Given the description of an element on the screen output the (x, y) to click on. 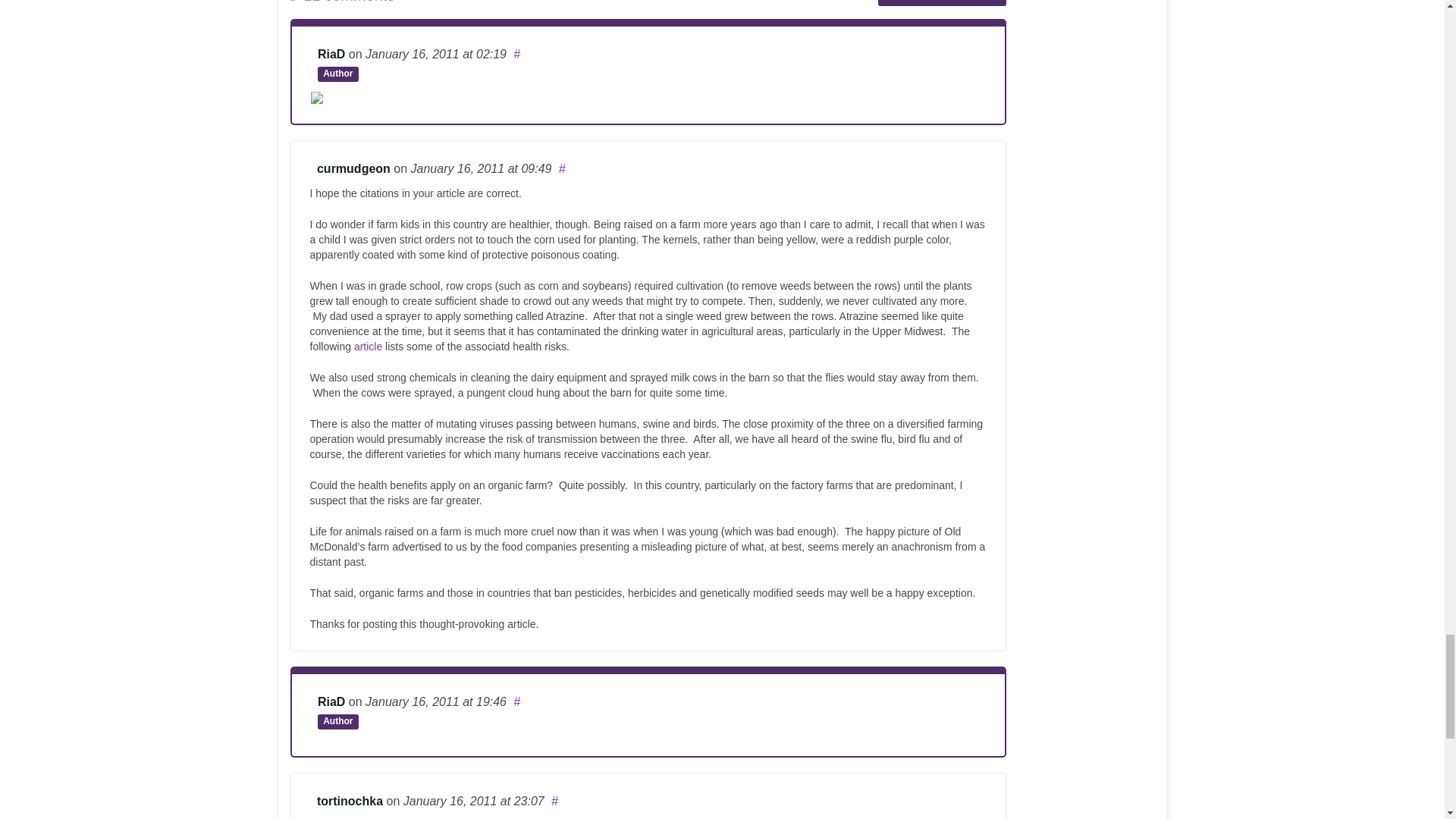
RiaD (331, 53)
article (367, 346)
tortinochka (349, 800)
curmudgeon (353, 168)
Skip to comment form (941, 2)
RiaD (331, 701)
